Given the description of an element on the screen output the (x, y) to click on. 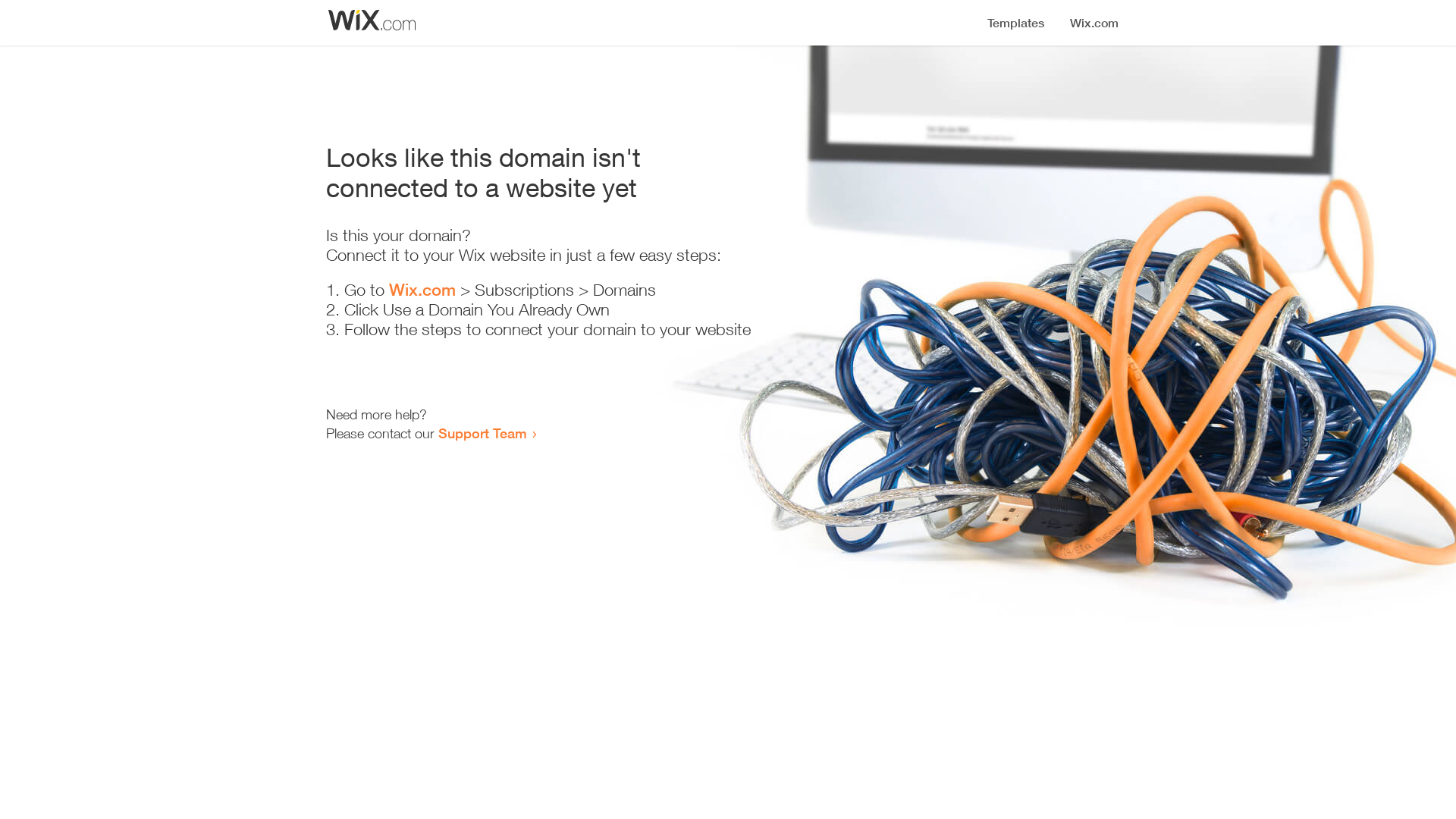
Support Team Element type: text (482, 432)
Wix.com Element type: text (422, 289)
